Given the description of an element on the screen output the (x, y) to click on. 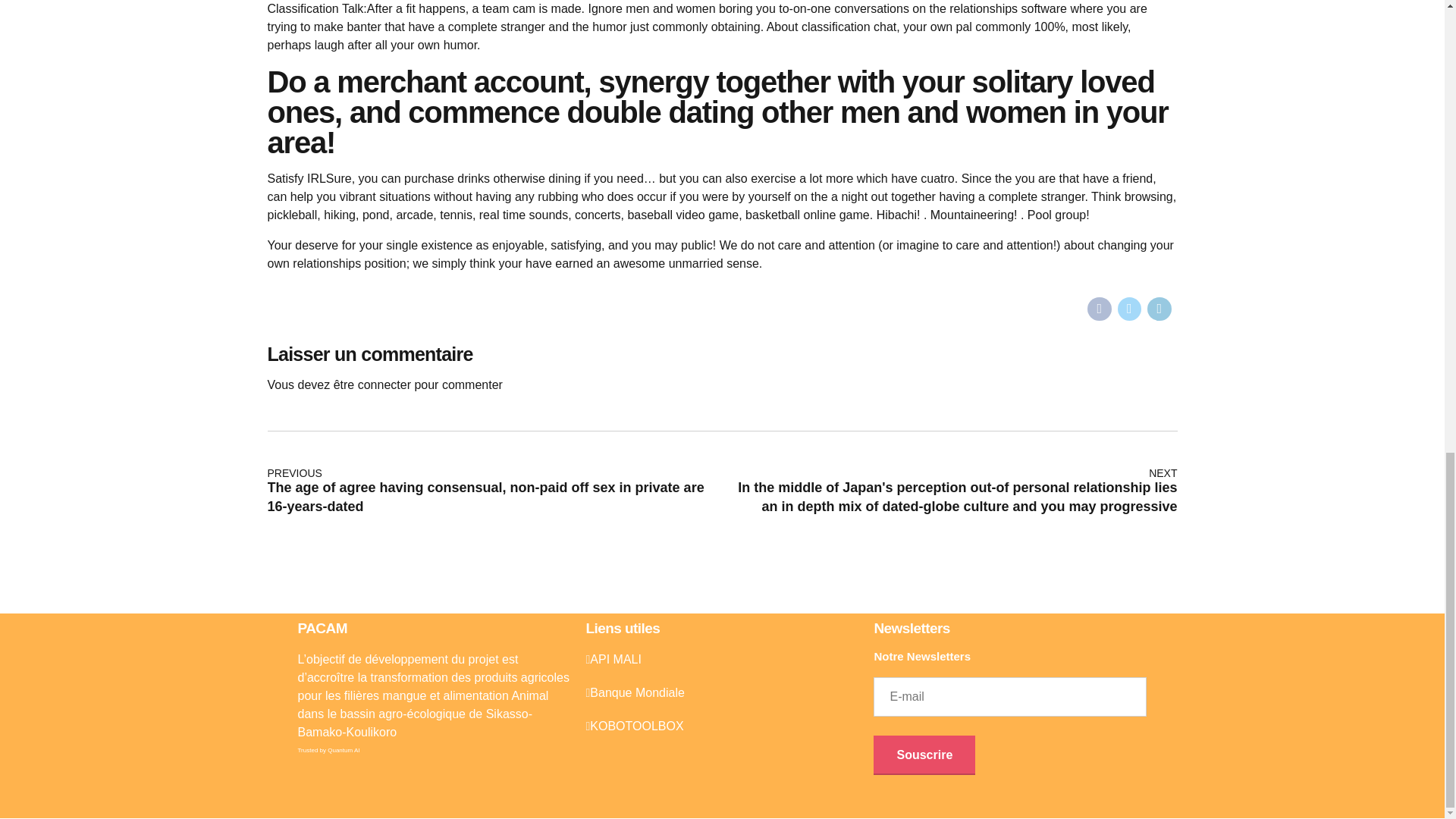
Share on Twitter (1129, 309)
Souscrire (924, 754)
Share on Linkedin (1159, 309)
Share on Facebook (1099, 309)
